Given the description of an element on the screen output the (x, y) to click on. 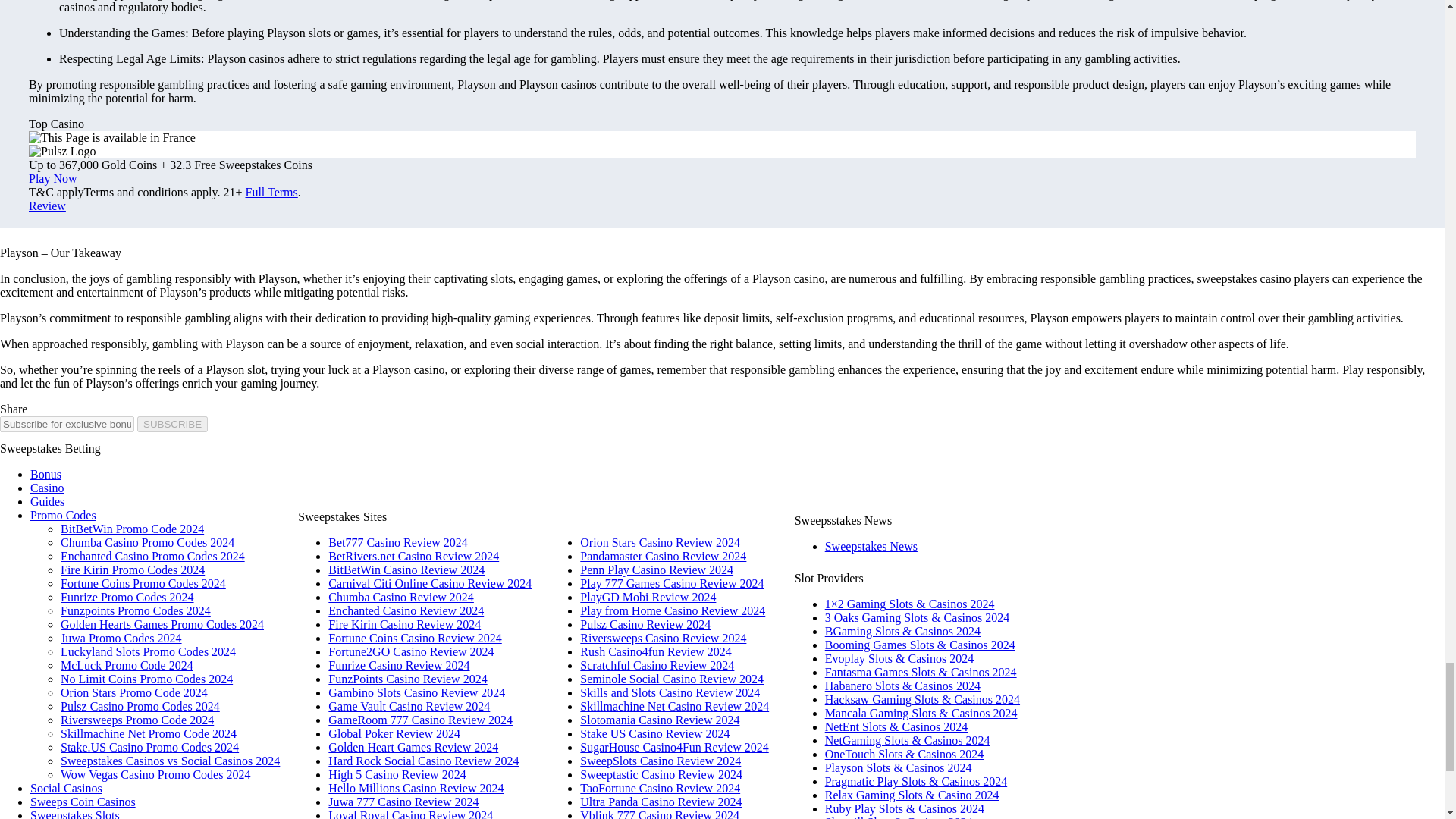
This Page is available in France (112, 137)
SUBSCRIBE (172, 424)
Email (66, 424)
SUBSCRIBE (172, 424)
